Given the description of an element on the screen output the (x, y) to click on. 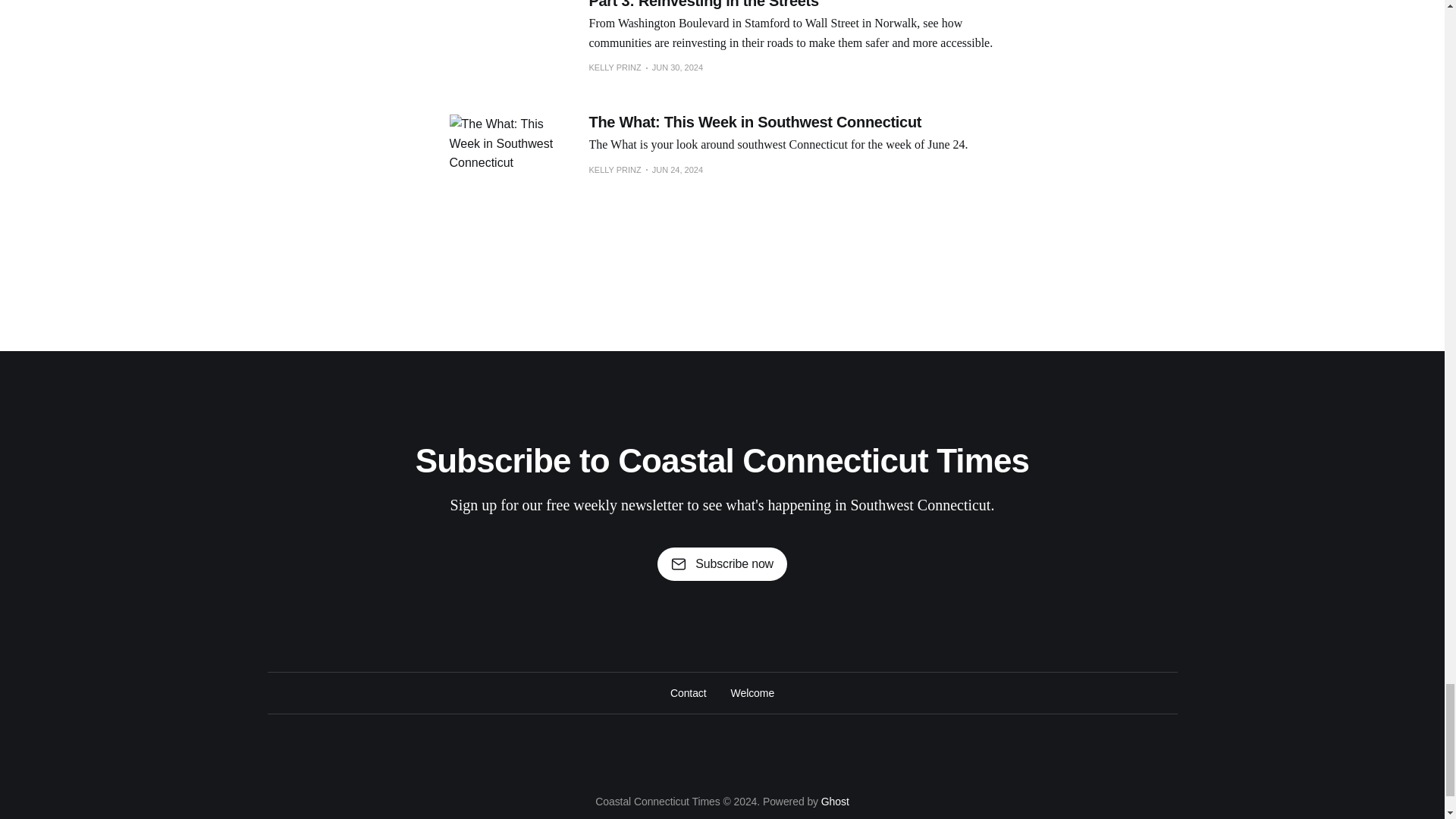
Welcome (752, 692)
Ghost (834, 801)
Subscribe now (722, 563)
Contact (687, 692)
